Given the description of an element on the screen output the (x, y) to click on. 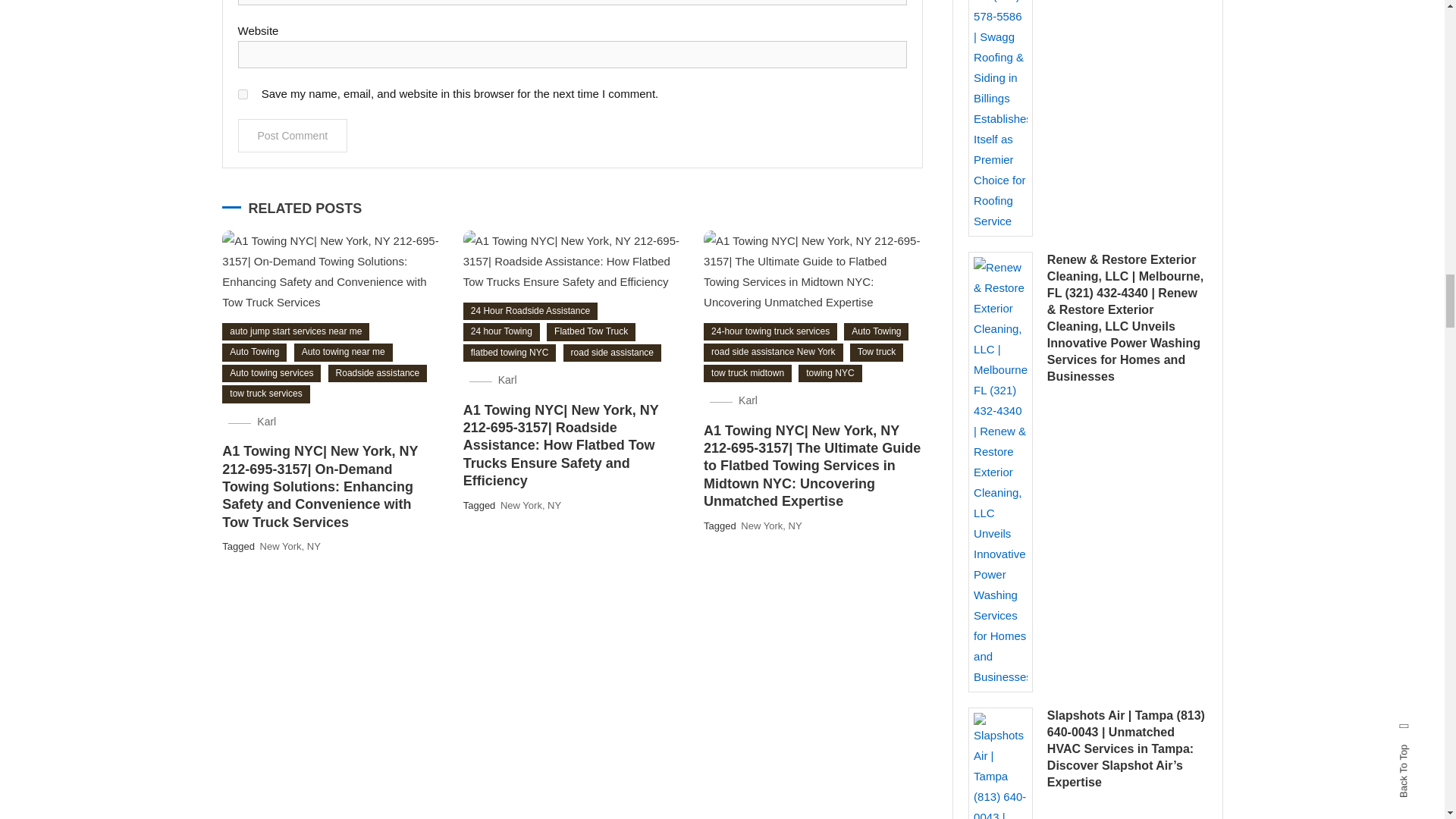
yes (242, 94)
Post Comment (292, 135)
